Given the description of an element on the screen output the (x, y) to click on. 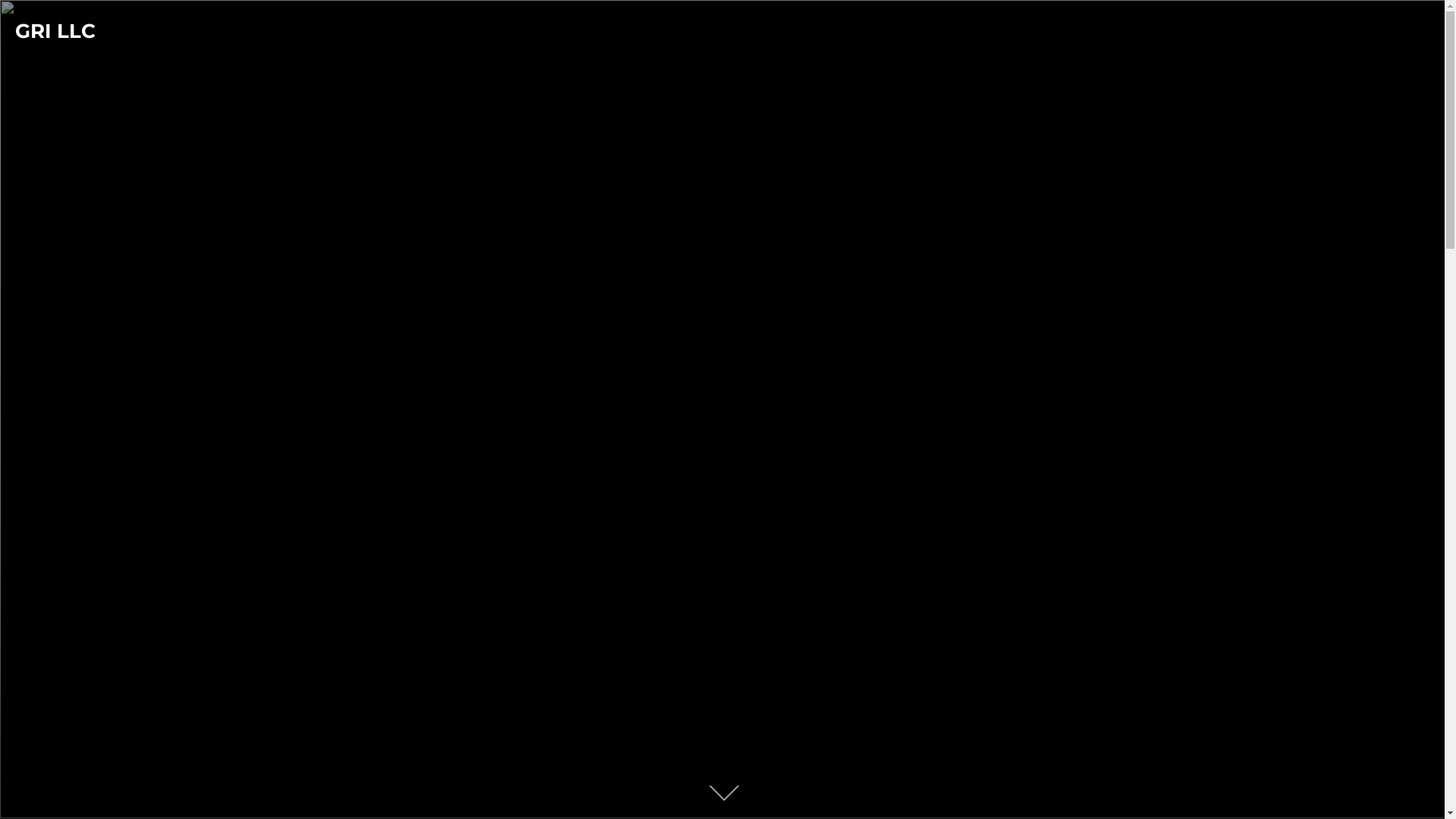
GRI LLC Element type: text (55, 31)
